Given the description of an element on the screen output the (x, y) to click on. 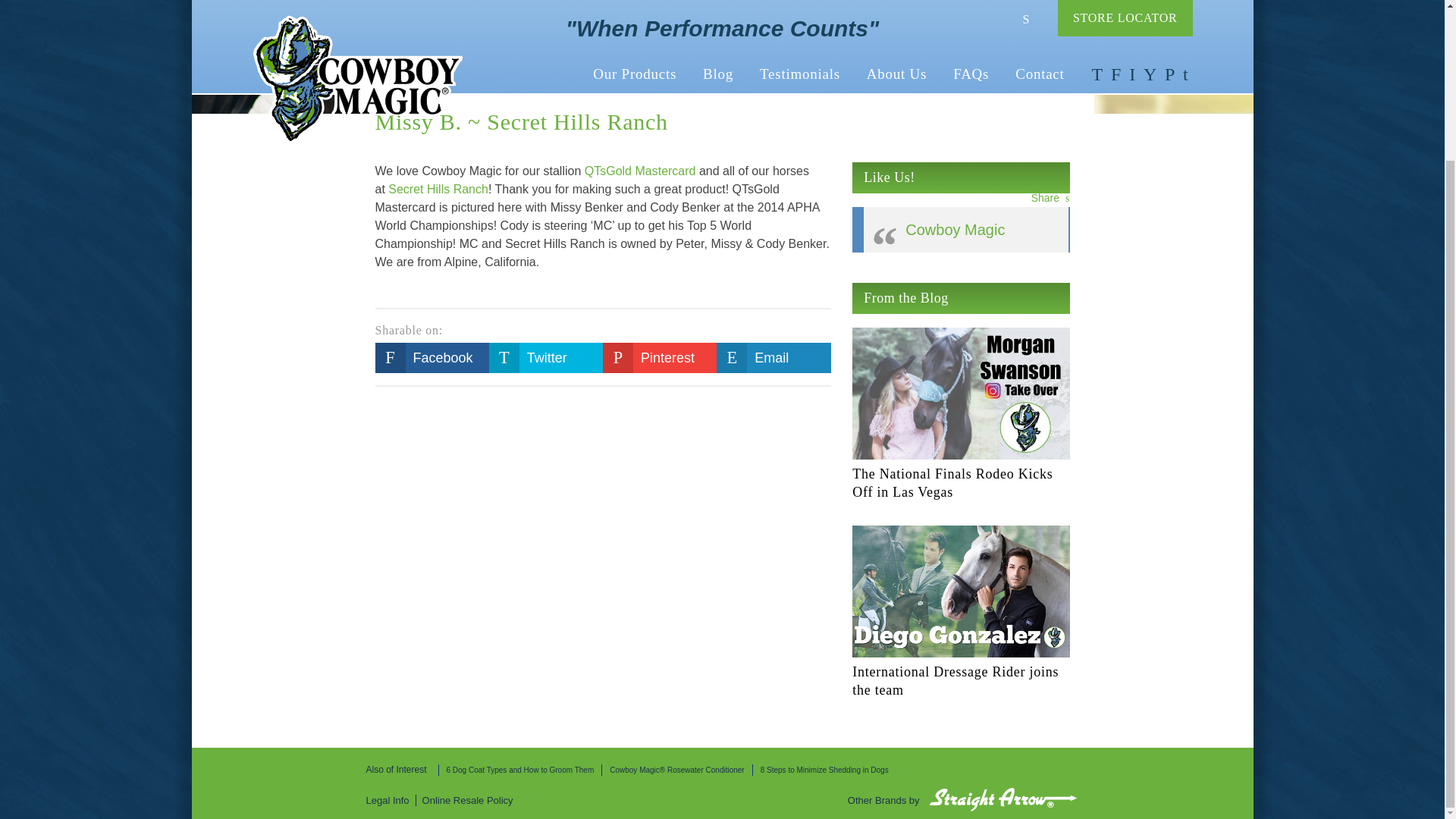
Secret Hills Ranch (437, 189)
Share (1050, 197)
QTsGold Mastercard (640, 171)
